Given the description of an element on the screen output the (x, y) to click on. 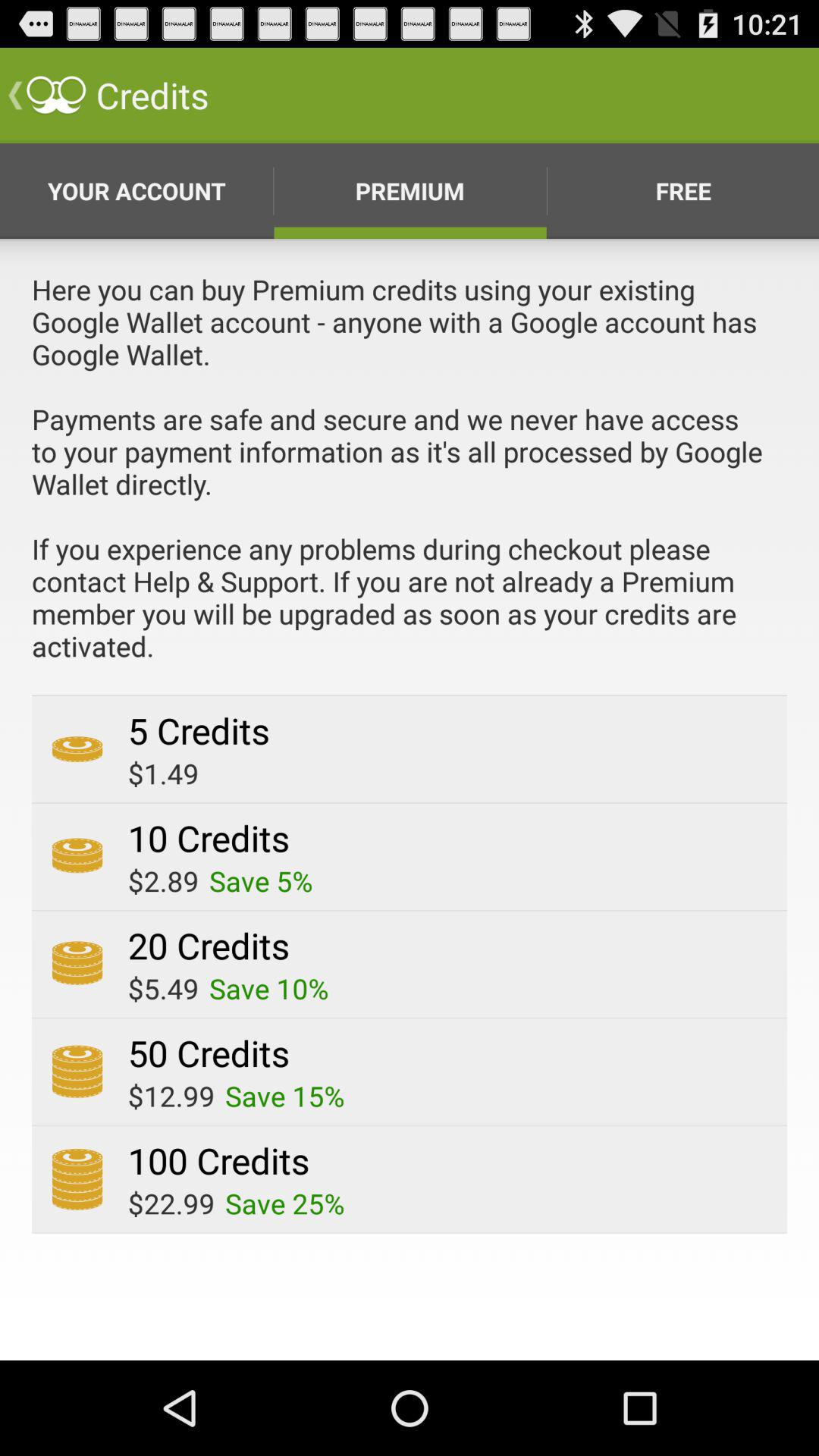
scroll until the here you can item (409, 482)
